Given the description of an element on the screen output the (x, y) to click on. 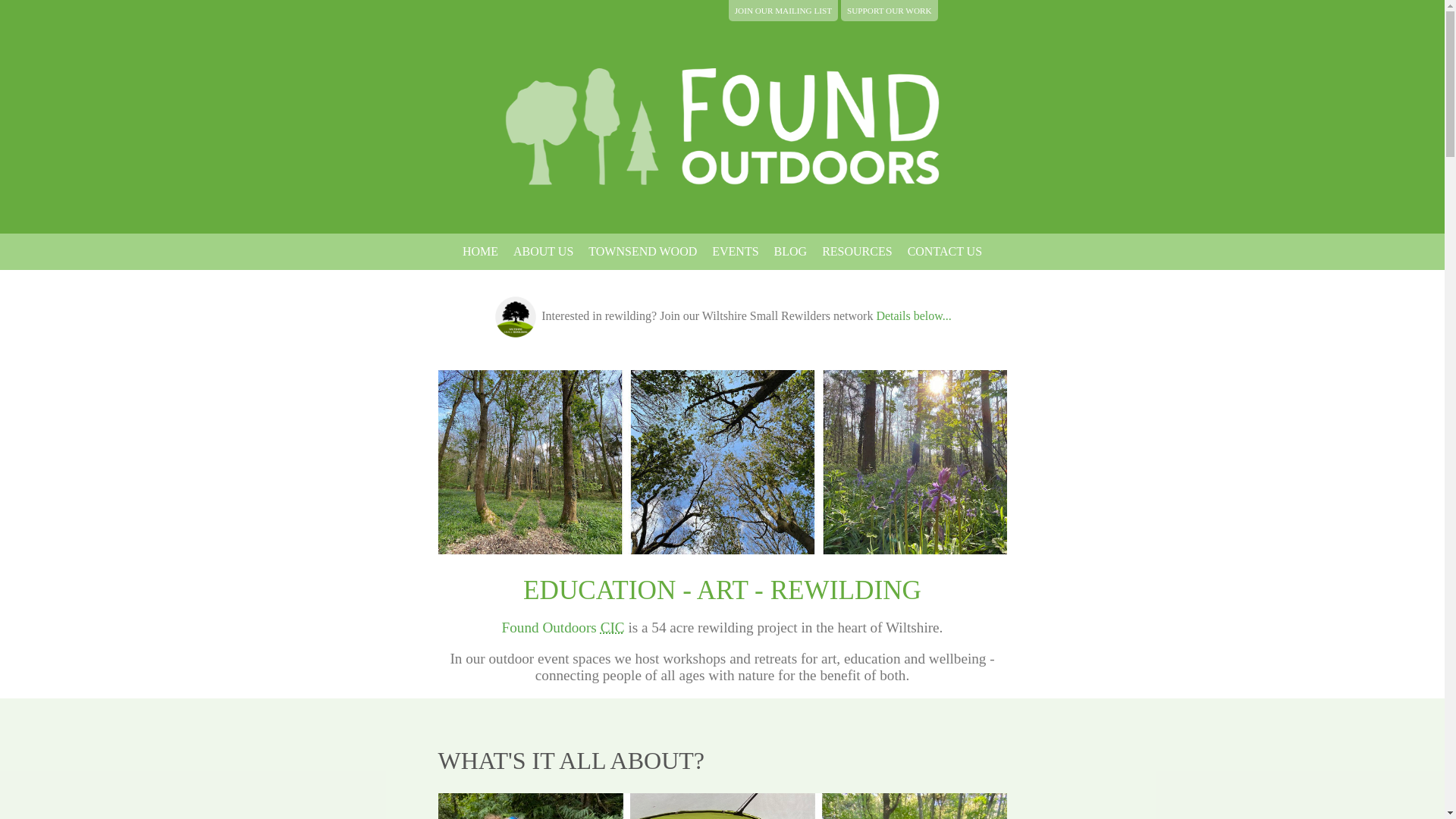
Details below... (913, 315)
Found Outdoors CIC (563, 627)
SUPPORT OUR WORK (889, 10)
BLOG (790, 251)
ABOUT US (542, 251)
RESOURCES (856, 251)
JOIN OUR MAILING LIST (783, 10)
EVENTS (735, 251)
TOWNSEND WOOD (642, 251)
CONTACT US (944, 251)
